Given the description of an element on the screen output the (x, y) to click on. 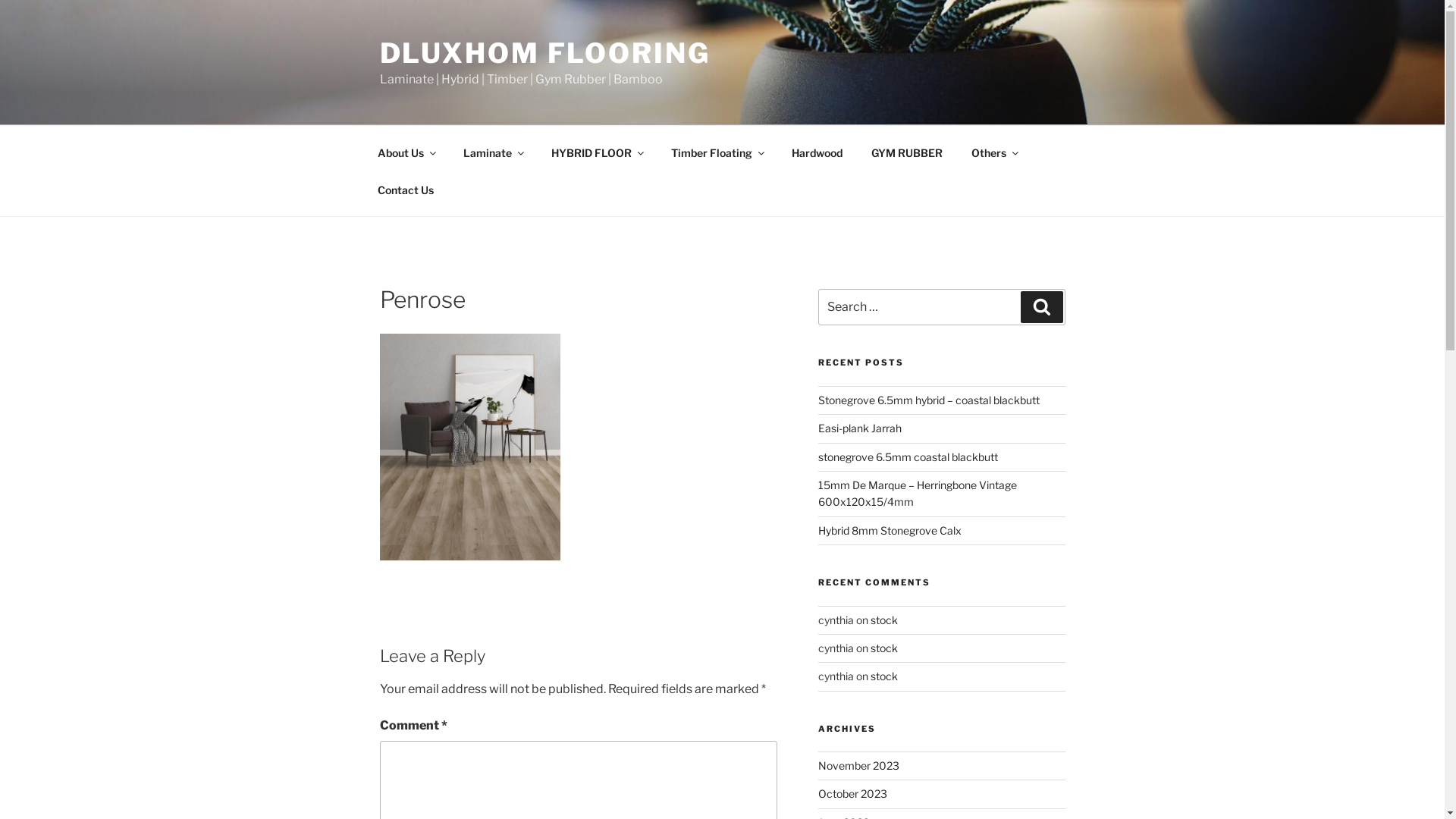
GYM RUBBER Element type: text (907, 151)
DLUXHOM FLOORING Element type: text (544, 52)
Hybrid 8mm Stonegrove Calx Element type: text (889, 530)
Hardwood Element type: text (816, 151)
Others Element type: text (994, 151)
stock Element type: text (883, 675)
October 2023 Element type: text (852, 793)
Easi-plank Jarrah Element type: text (859, 427)
About Us Element type: text (405, 151)
Laminate Element type: text (493, 151)
Contact Us Element type: text (405, 189)
November 2023 Element type: text (858, 765)
stock Element type: text (883, 647)
Search Element type: text (1041, 307)
stonegrove 6.5mm coastal blackbutt Element type: text (907, 456)
stock Element type: text (883, 618)
Timber Floating Element type: text (717, 151)
HYBRID FLOOR Element type: text (596, 151)
